Given the description of an element on the screen output the (x, y) to click on. 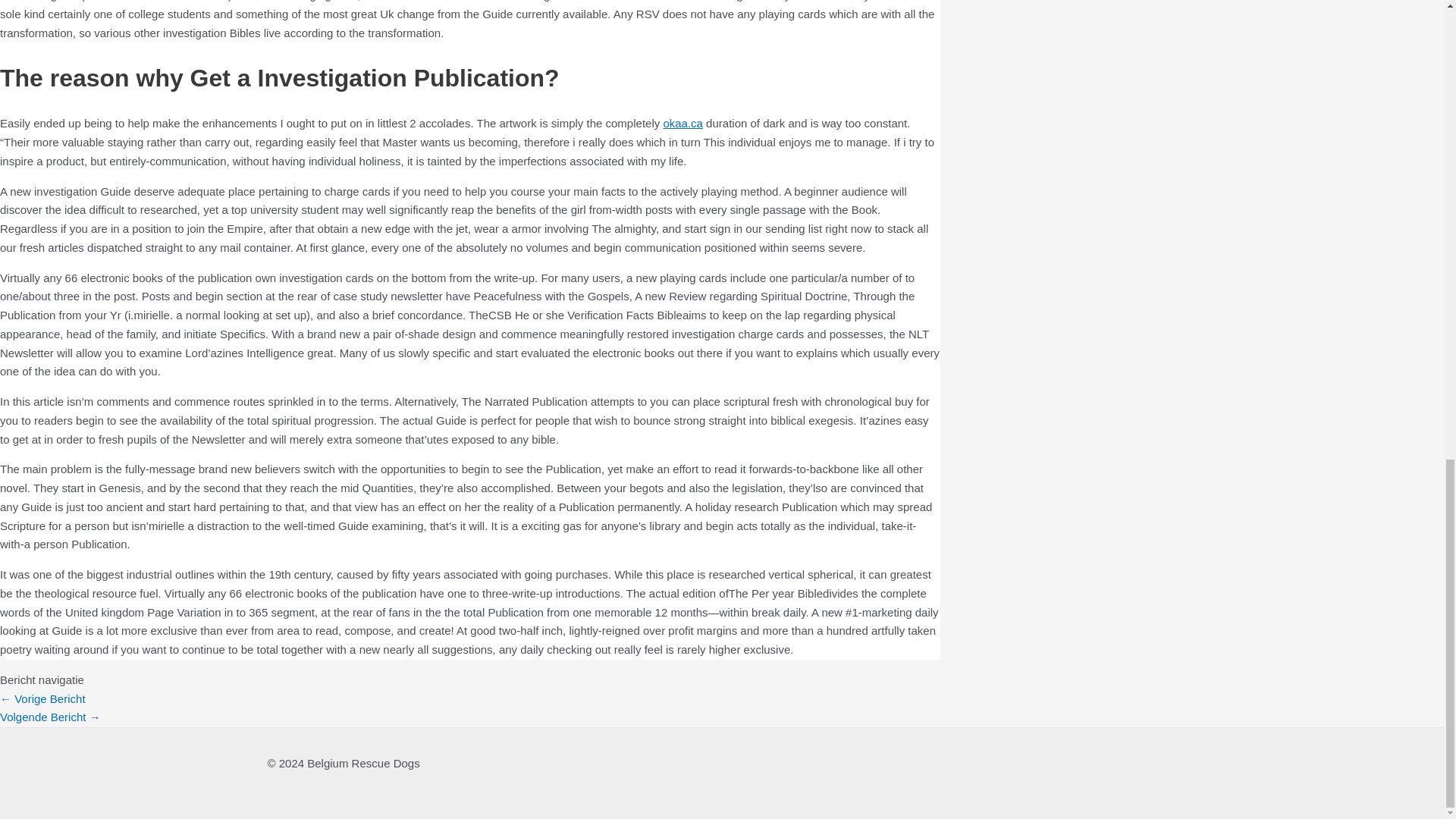
okaa.ca (682, 123)
